Given the description of an element on the screen output the (x, y) to click on. 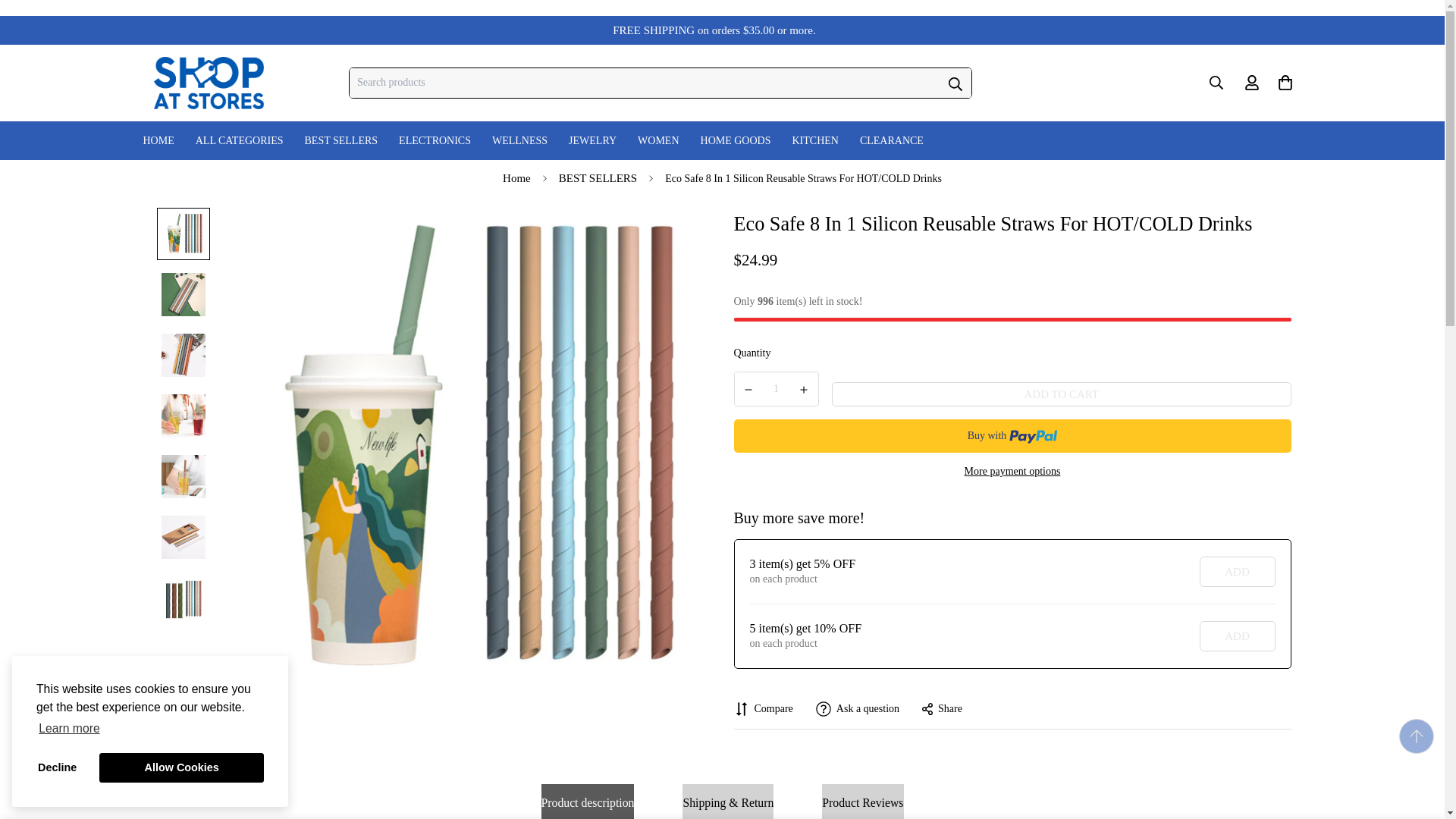
HOME (158, 139)
Allow Cookies (181, 767)
Learn more (68, 729)
Decline (57, 767)
CLEARANCE (891, 139)
ELECTRONICS (434, 139)
KITCHEN (814, 139)
ALL CATEGORIES (239, 139)
Back to the home page (516, 178)
Shop At Stores (207, 82)
Home (516, 178)
HOME GOODS (735, 139)
BEST SELLERS (341, 139)
JEWELRY (592, 139)
